Given the description of an element on the screen output the (x, y) to click on. 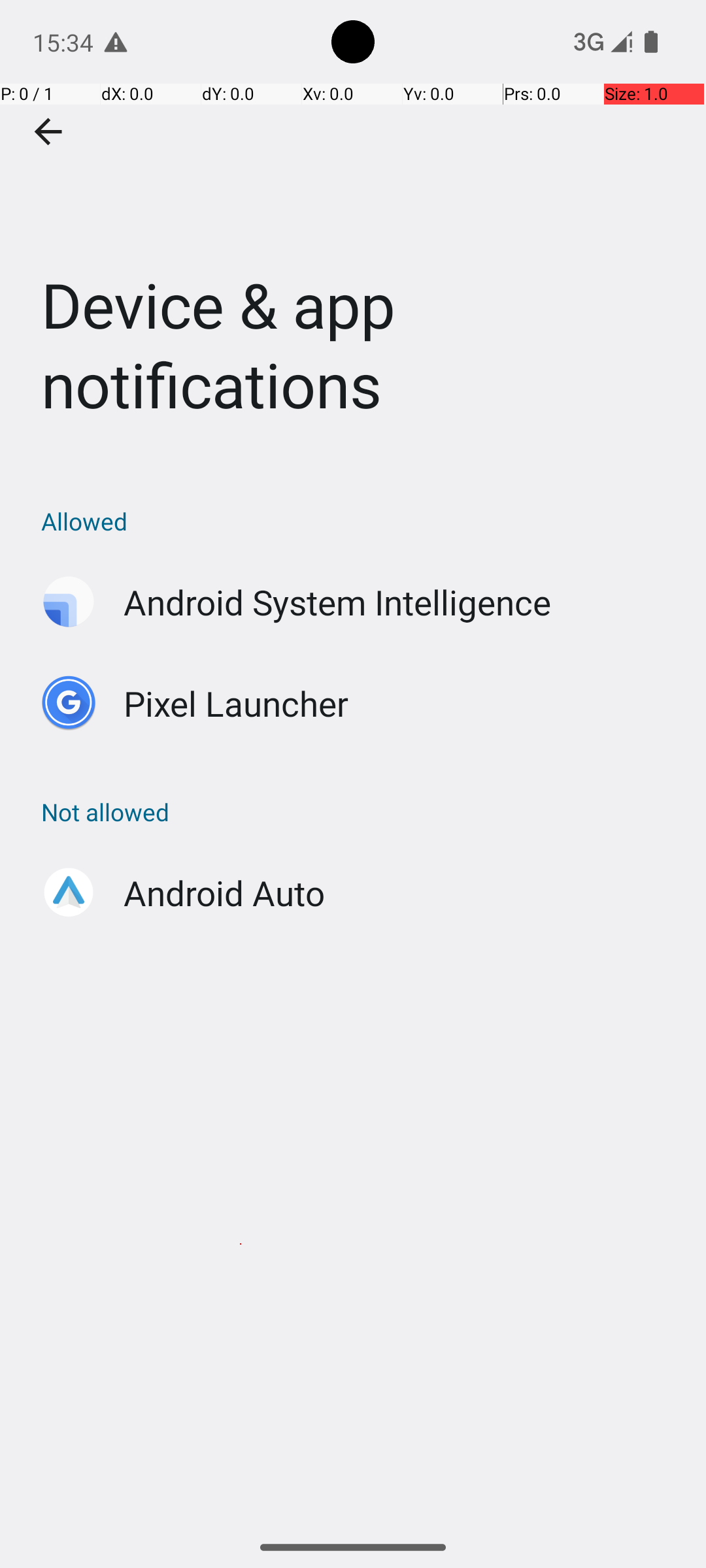
Device & app notifications Element type: android.widget.FrameLayout (353, 231)
Allowed Element type: android.widget.TextView (359, 520)
Android System Intelligence Element type: android.widget.TextView (337, 601)
Pixel Launcher Element type: android.widget.TextView (236, 703)
Not allowed Element type: android.widget.TextView (359, 811)
Android Auto Element type: android.widget.TextView (223, 892)
